Given the description of an element on the screen output the (x, y) to click on. 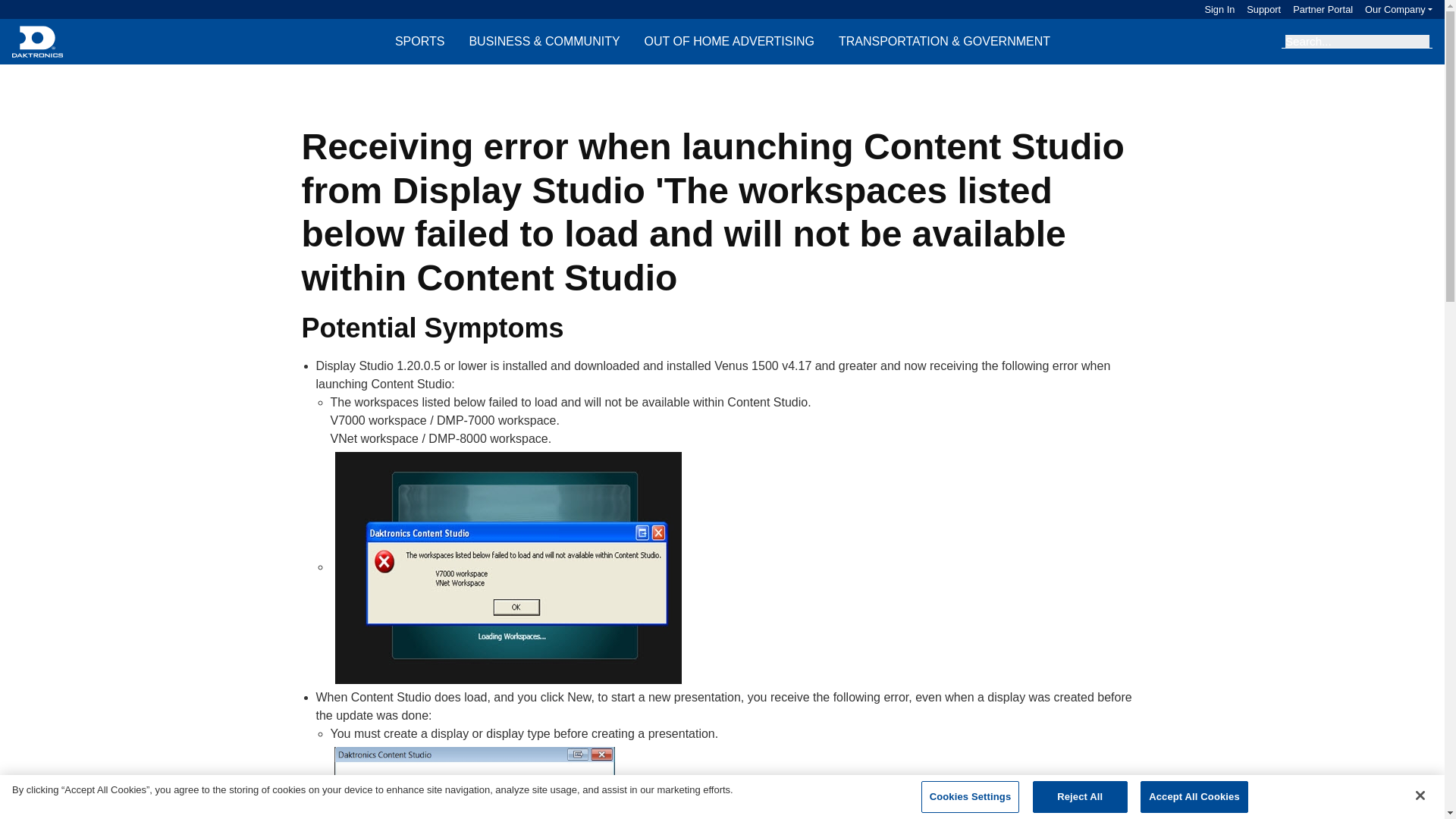
SPORTS (419, 41)
Daktronics (36, 41)
Our Company (1398, 9)
Partner Portal (1316, 9)
Sign In (1219, 9)
Support (1257, 9)
